Given the description of an element on the screen output the (x, y) to click on. 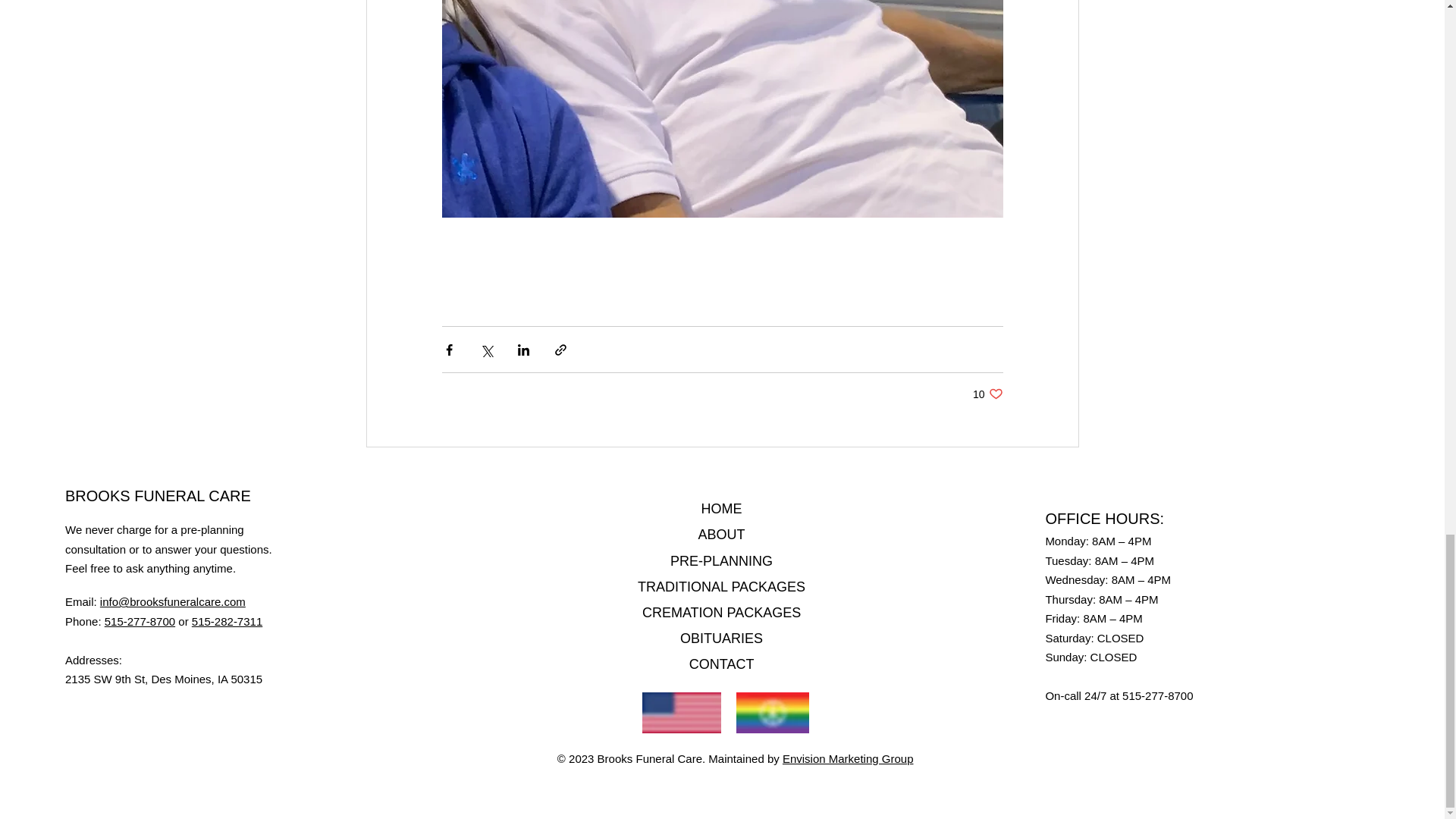
CONTACT (721, 663)
ABOUT (721, 534)
515-277-8700 (139, 621)
TRADITIONAL PACKAGES (721, 586)
PRE-PLANNING (721, 560)
OBITUARIES (720, 638)
Envision Marketing Group (848, 758)
HOME (721, 508)
515-282-7311 (227, 621)
CREMATION PACKAGES (721, 612)
